Given the description of an element on the screen output the (x, y) to click on. 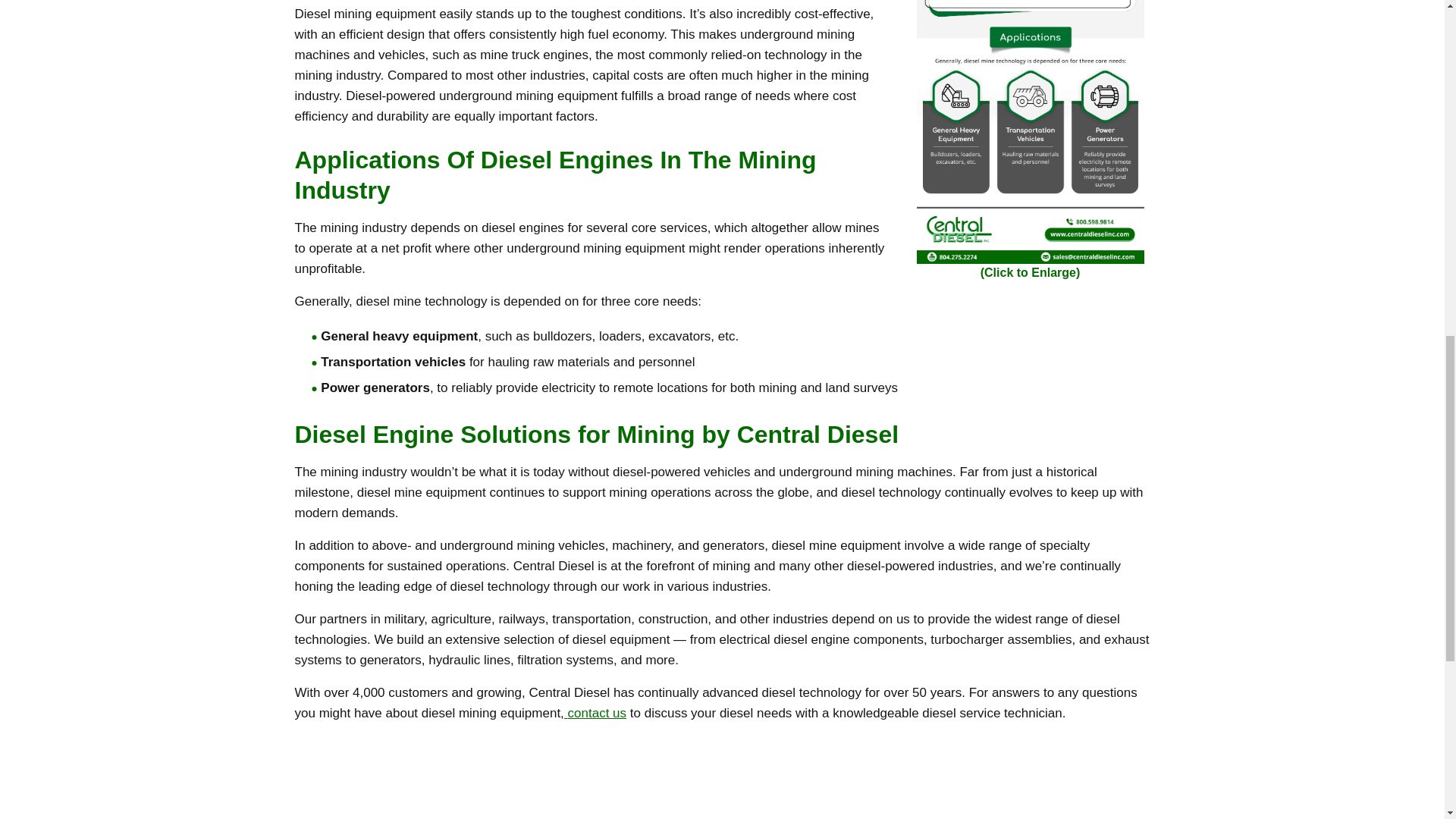
Mining Diesel Engines (1028, 132)
